Given the description of an element on the screen output the (x, y) to click on. 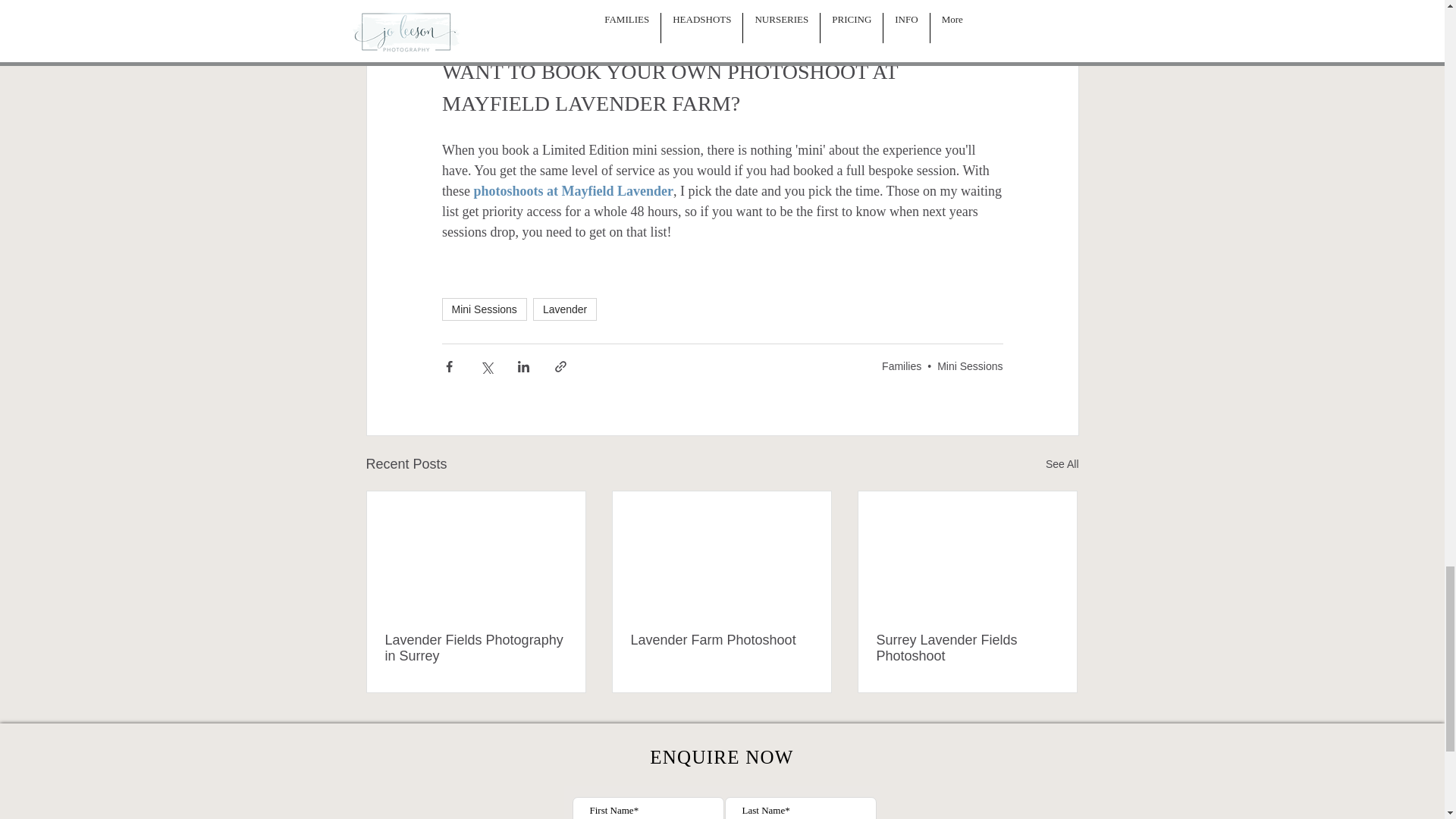
Lavender (564, 309)
Mini Sessions (970, 366)
Mini Sessions (483, 309)
photoshoots at Mayfield Lavender (572, 191)
Lavender Fields Photography in Surrey (476, 648)
Families (901, 366)
See All (1061, 464)
